Given the description of an element on the screen output the (x, y) to click on. 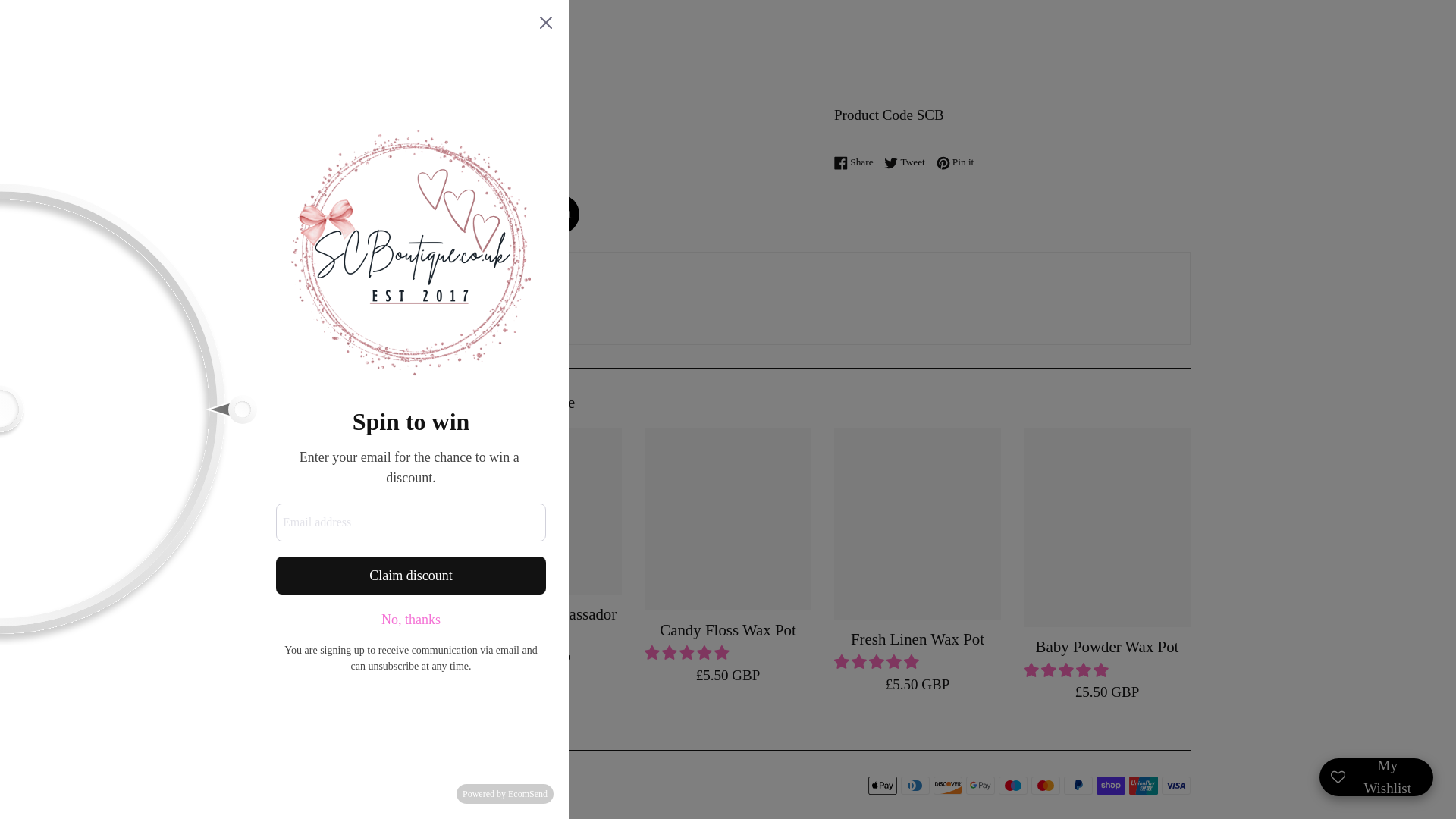
Diners Club (915, 785)
Union Pay (1143, 785)
PayPal (1078, 785)
Shop Pay (1110, 785)
Discover (947, 785)
Apple Pay (881, 785)
Mastercard (1044, 785)
Google Pay (980, 785)
Visa (1176, 785)
Maestro (1012, 785)
